Given the description of an element on the screen output the (x, y) to click on. 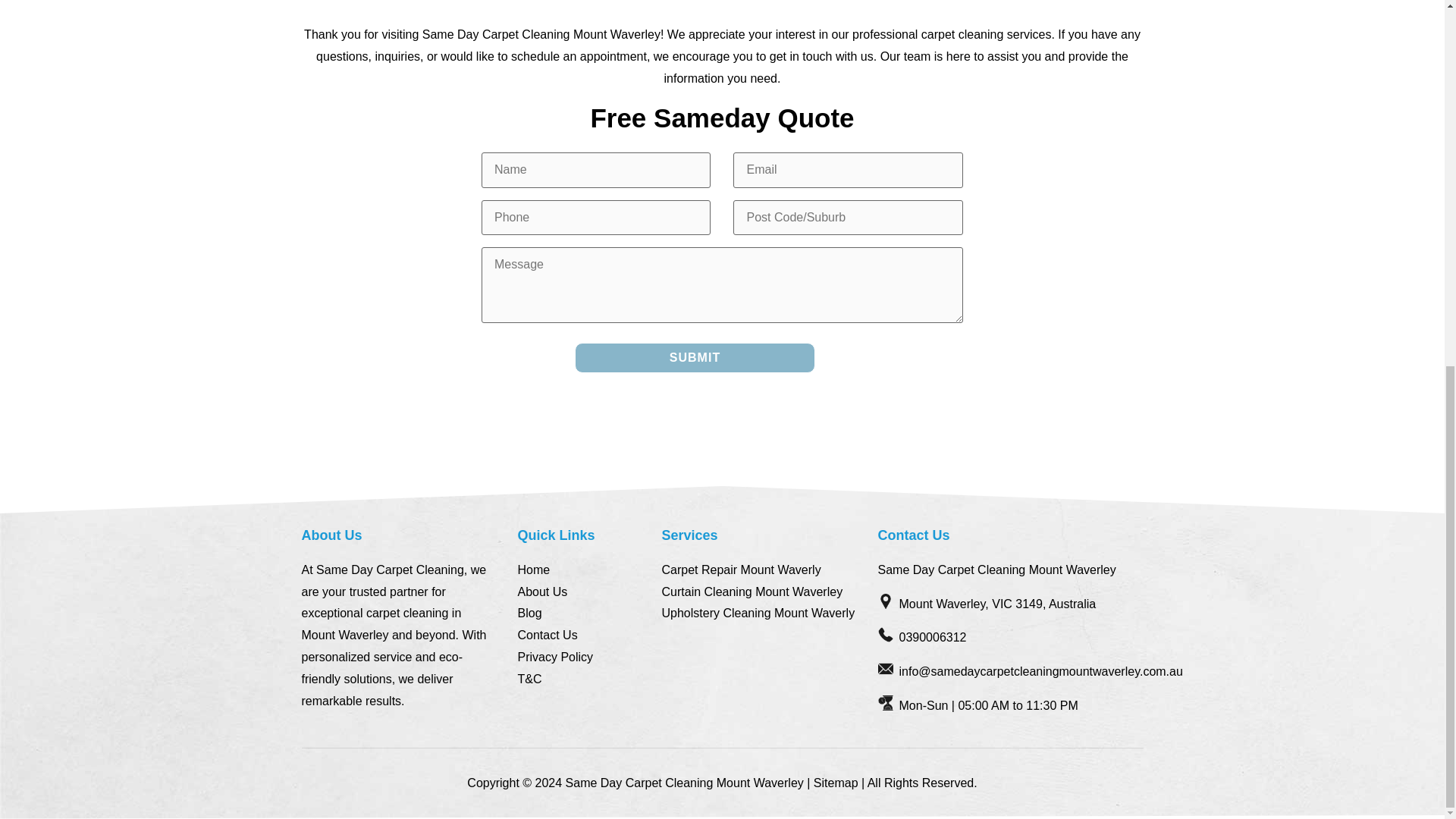
0390006312 (932, 638)
Sitemap (836, 782)
Privacy Policy (554, 656)
About Us (541, 591)
Submit (695, 358)
Contact Us (546, 634)
Upholstery Cleaning Mount Waverly (757, 612)
Same Day Carpet Cleaning Mount Waverley (684, 782)
Same Day Carpet Cleaning Mount Waverley (684, 782)
Submit (695, 358)
Blog (528, 612)
Carpet Repair Mount Waverly (741, 569)
Home (533, 569)
Curtain Cleaning Mount Waverley (752, 591)
